Given the description of an element on the screen output the (x, y) to click on. 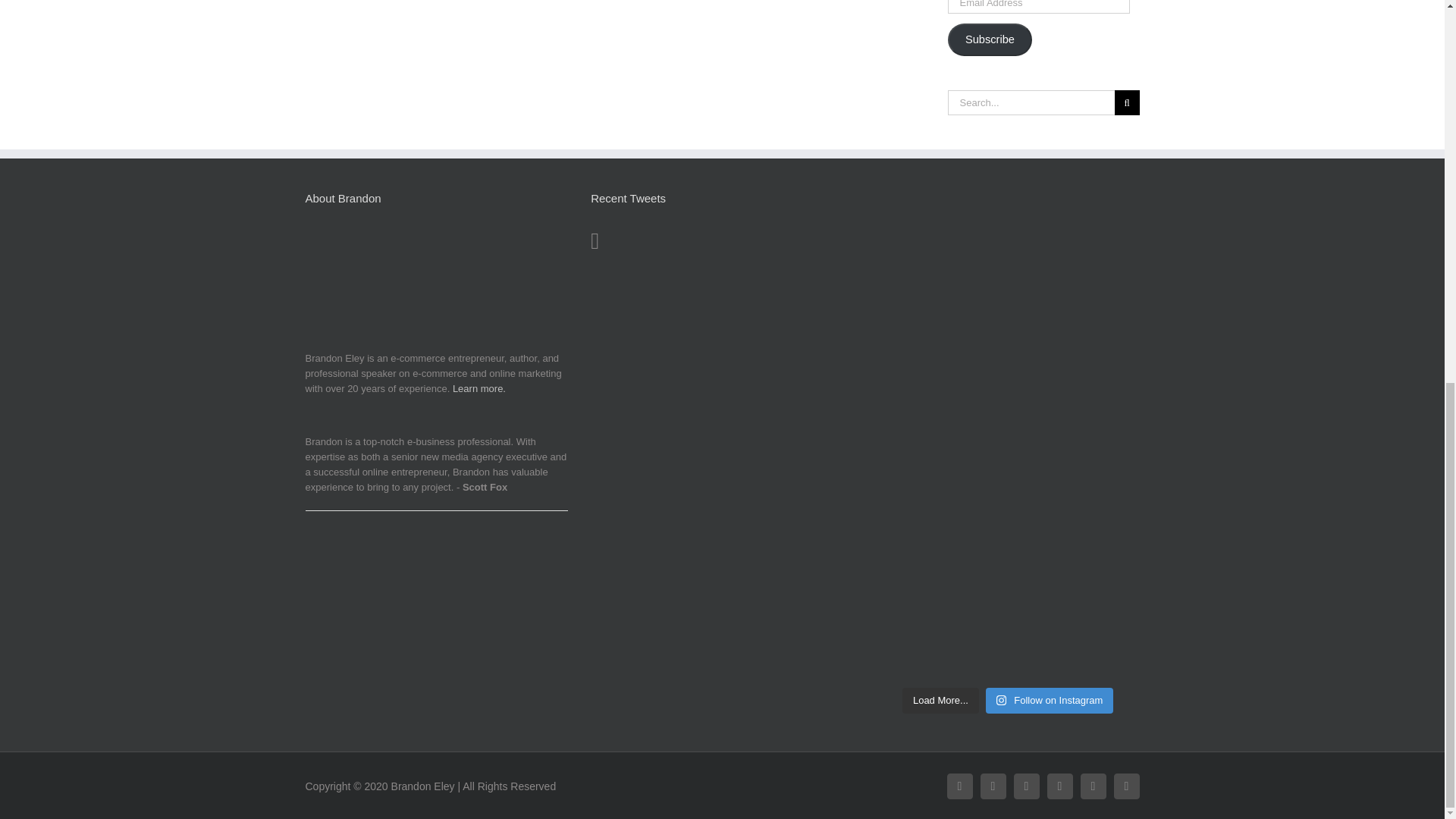
Subscribe (989, 39)
Facebook (959, 786)
Learn more. (478, 388)
